Given the description of an element on the screen output the (x, y) to click on. 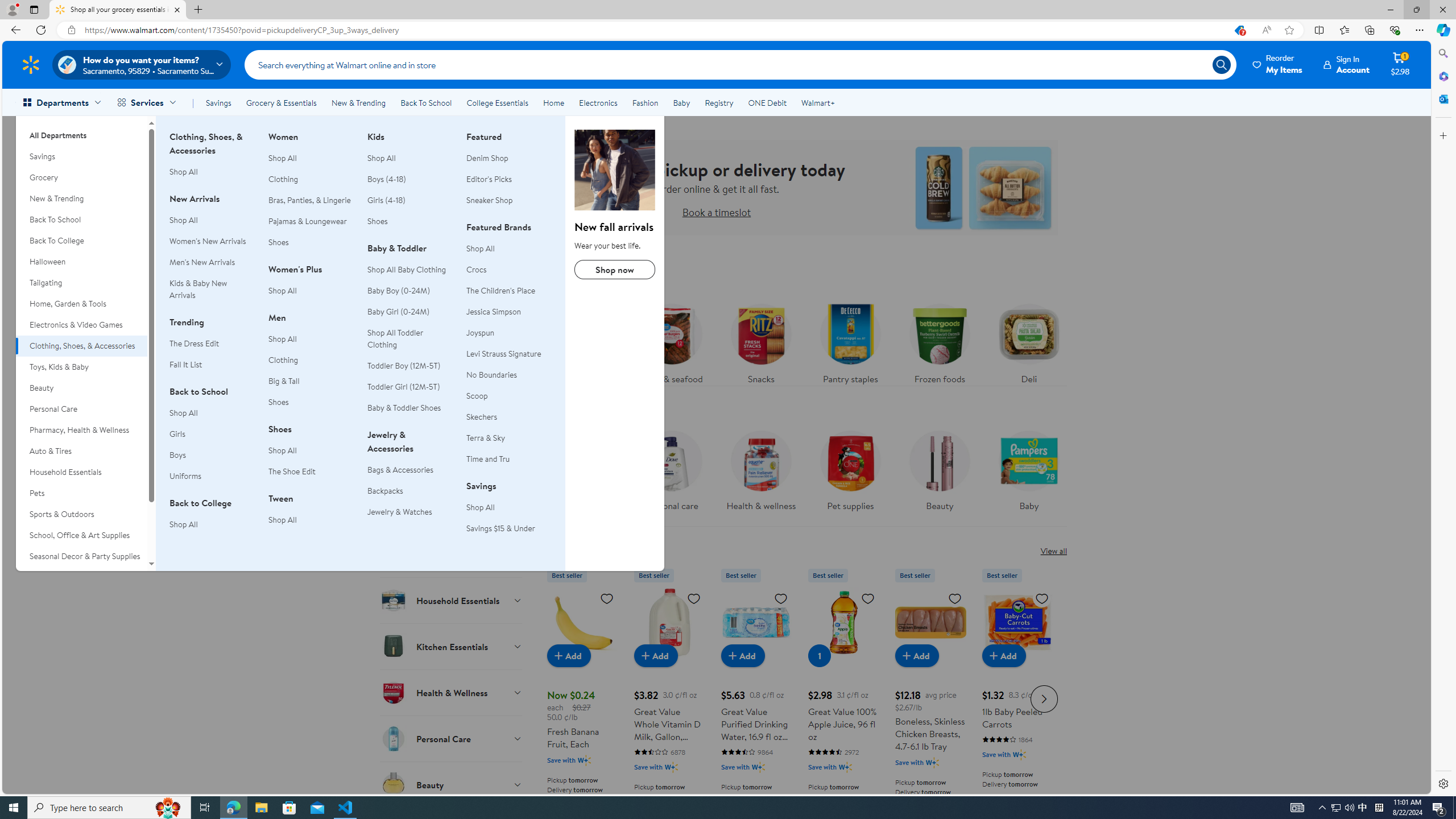
Kids & Baby New Arrivals (197, 288)
Shoes (409, 221)
Household Essentials (81, 472)
Sign in to add to Favorites list, 1lb Baby Peeled Carrots (1041, 597)
Women's New Arrivals (211, 241)
Back To School (425, 102)
Health & wellness (760, 467)
Movies, Music & Books (81, 577)
Toys, Kids & Baby (81, 366)
Shop All Baby Clothing (406, 269)
Levi Strauss Signature (503, 353)
Household essentials (582, 473)
